Given the description of an element on the screen output the (x, y) to click on. 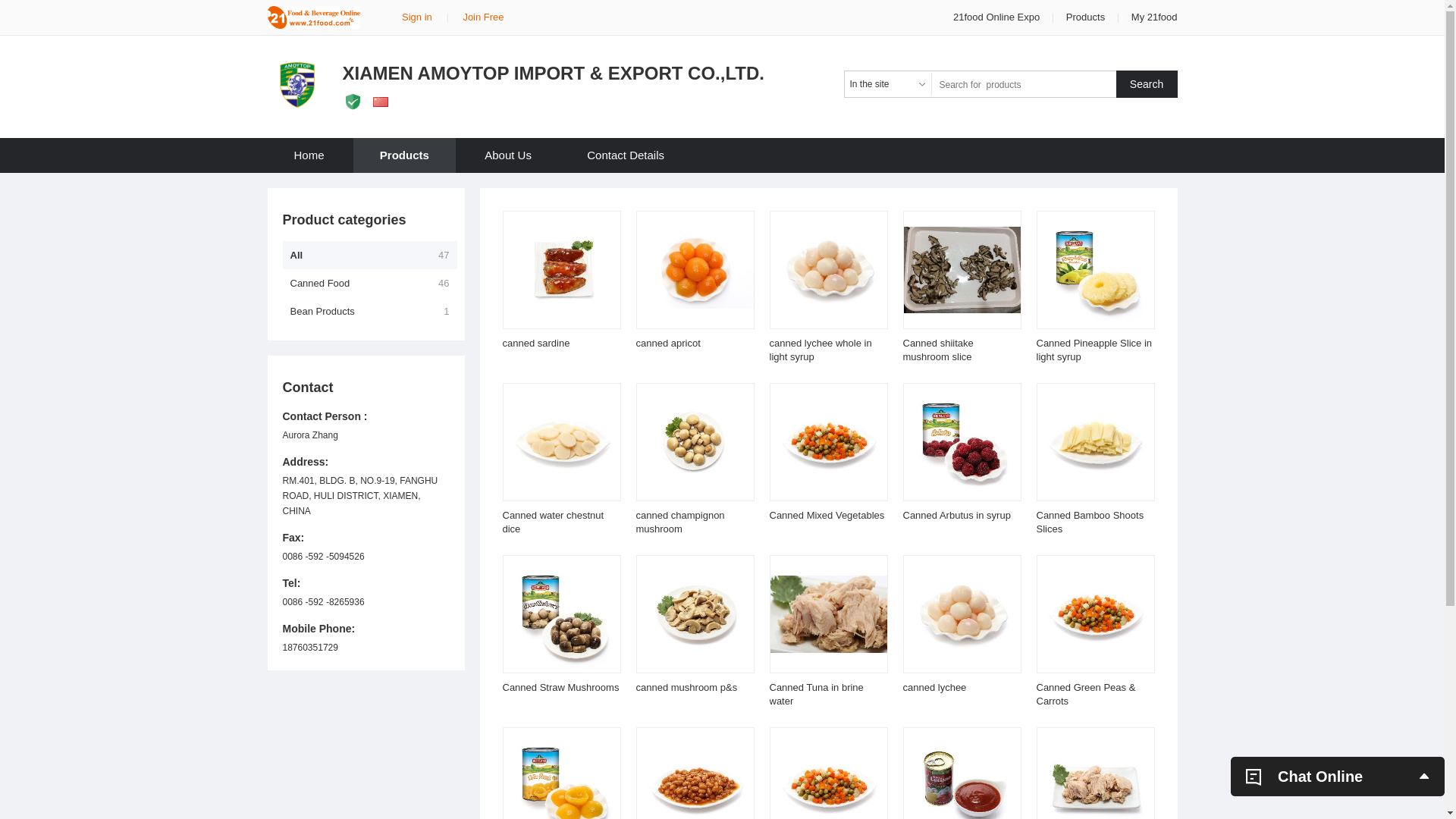
21food Online Expo Element type: text (997, 16)
canned apricot Element type: text (667, 342)
Search Element type: text (1146, 83)
canned mushroom p&s Element type: text (686, 687)
Products Element type: text (404, 155)
About Us Element type: text (508, 155)
Canned water chestnut dice Element type: text (552, 521)
Sign in Element type: text (416, 16)
My 21food Element type: text (1154, 16)
Canned Arbutus in syrup Element type: text (956, 514)
canned lychee Element type: text (934, 687)
Canned Tuna in brine water Element type: text (815, 693)
canned lychee whole in light syrup Element type: text (819, 349)
Canned shiitake mushroom slice Element type: text (937, 349)
canned sardine Element type: text (535, 342)
Join Free Element type: text (482, 16)
Canned Green Peas & Carrots Element type: text (1085, 693)
Canned Straw Mushrooms Element type: text (560, 687)
canned champignon mushroom Element type: text (679, 521)
Canned Pineapple Slice in light syrup Element type: text (1093, 349)
Canned Bamboo Shoots Slices Element type: text (1089, 521)
Contact Details Element type: text (625, 155)
Canned Mixed Vegetables Element type: text (826, 514)
Home Element type: text (308, 155)
Products Element type: text (1085, 16)
